Given the description of an element on the screen output the (x, y) to click on. 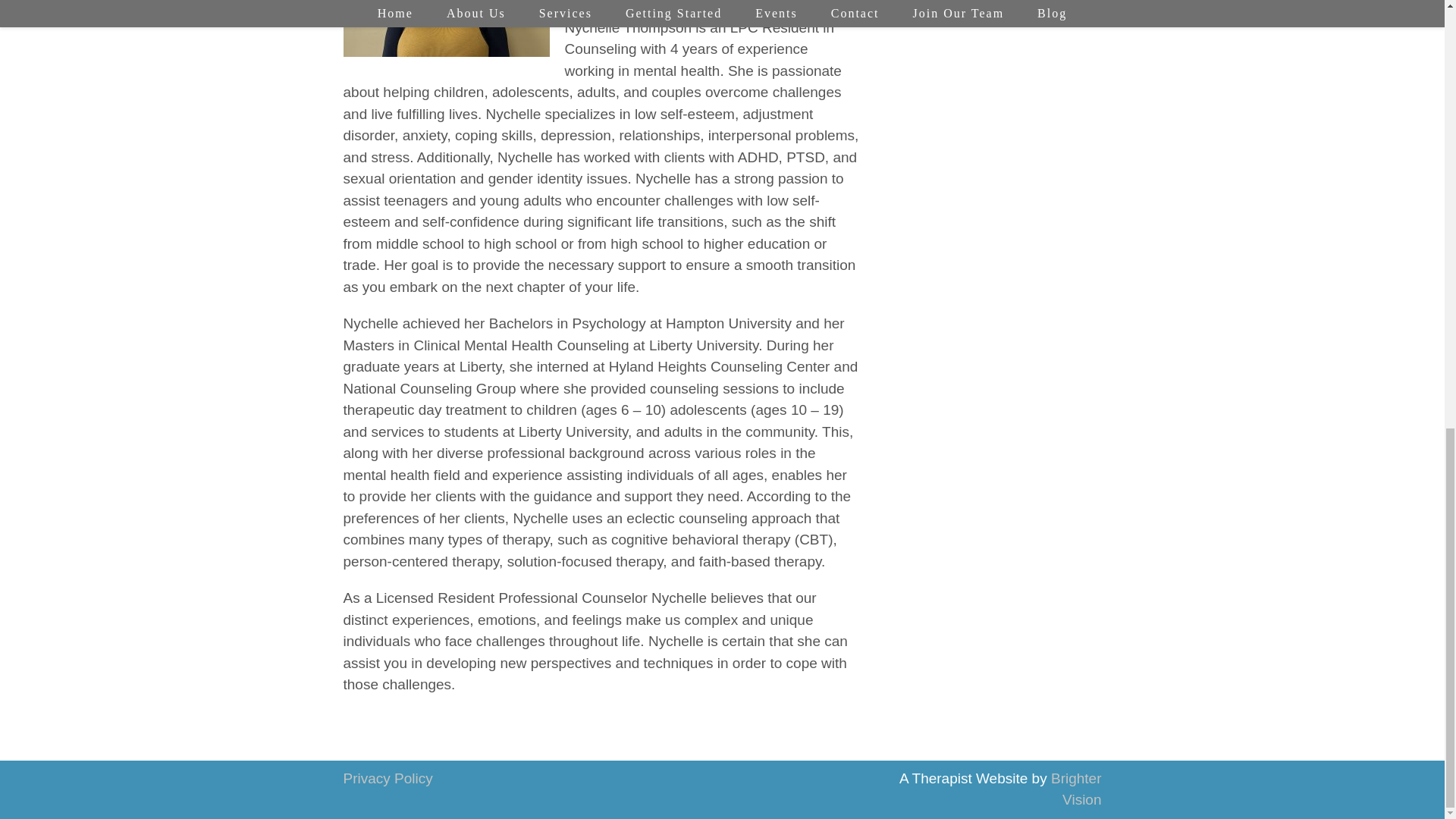
Privacy Policy (387, 778)
Brighter Vision (1076, 789)
